Given the description of an element on the screen output the (x, y) to click on. 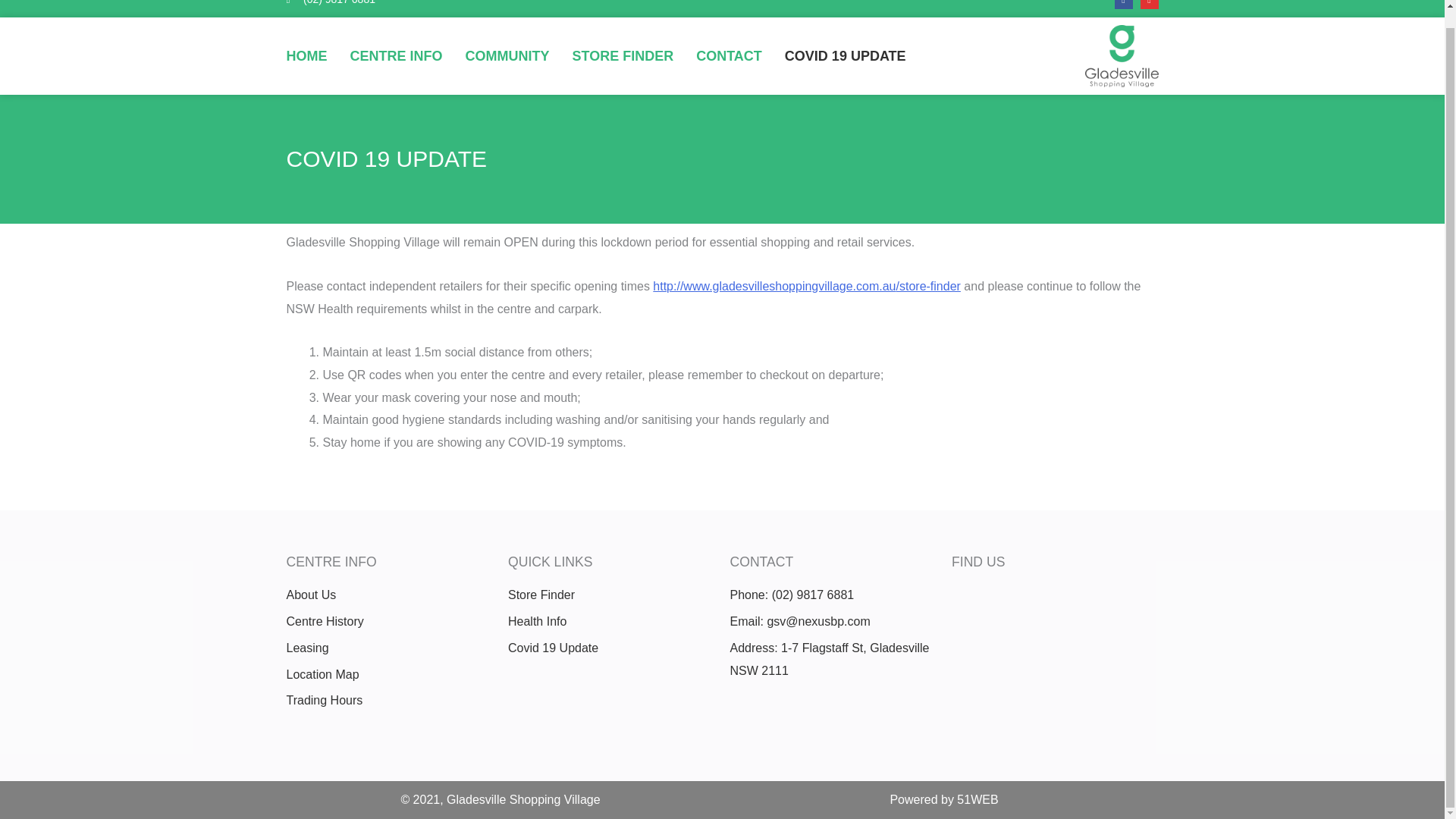
Centre History (389, 621)
Powered by 51WEB (943, 799)
CENTRE INFO (396, 55)
About Us (389, 594)
Health Info (611, 621)
Store Finder (611, 594)
Location Map (389, 674)
COVID 19 UPDATE (844, 55)
CONTACT (728, 55)
Covid 19 Update (611, 648)
